Given the description of an element on the screen output the (x, y) to click on. 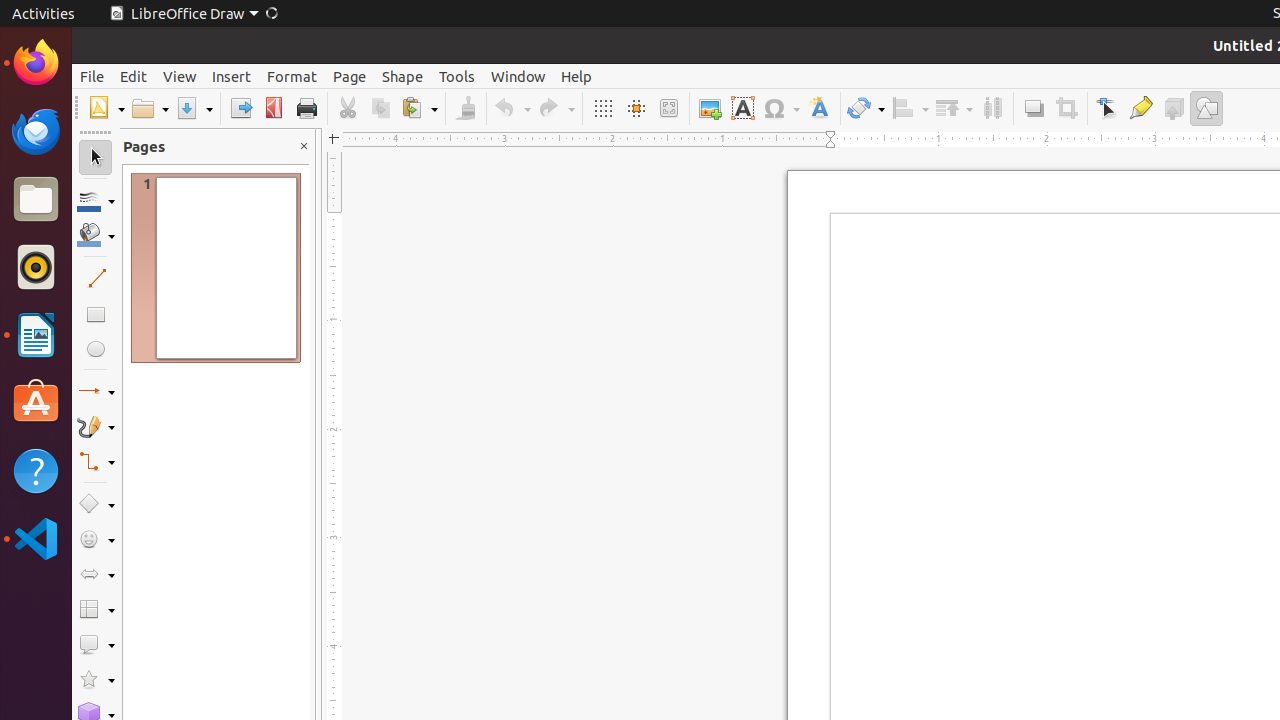
Draw Functions Element type: toggle-button (1206, 108)
Paste Element type: push-button (419, 108)
Select Element type: push-button (95, 157)
Open Element type: push-button (150, 108)
